Given the description of an element on the screen output the (x, y) to click on. 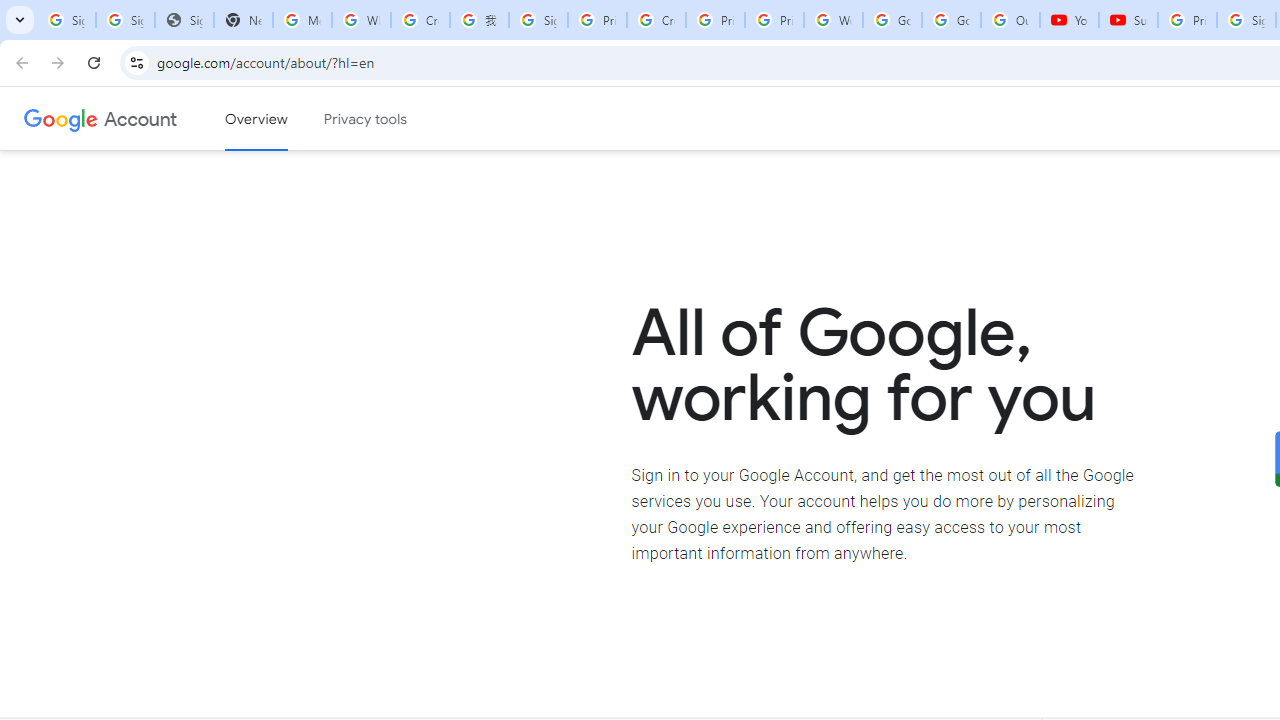
Google Account (140, 118)
Sign in - Google Accounts (538, 20)
Subscriptions - YouTube (1128, 20)
